Given the description of an element on the screen output the (x, y) to click on. 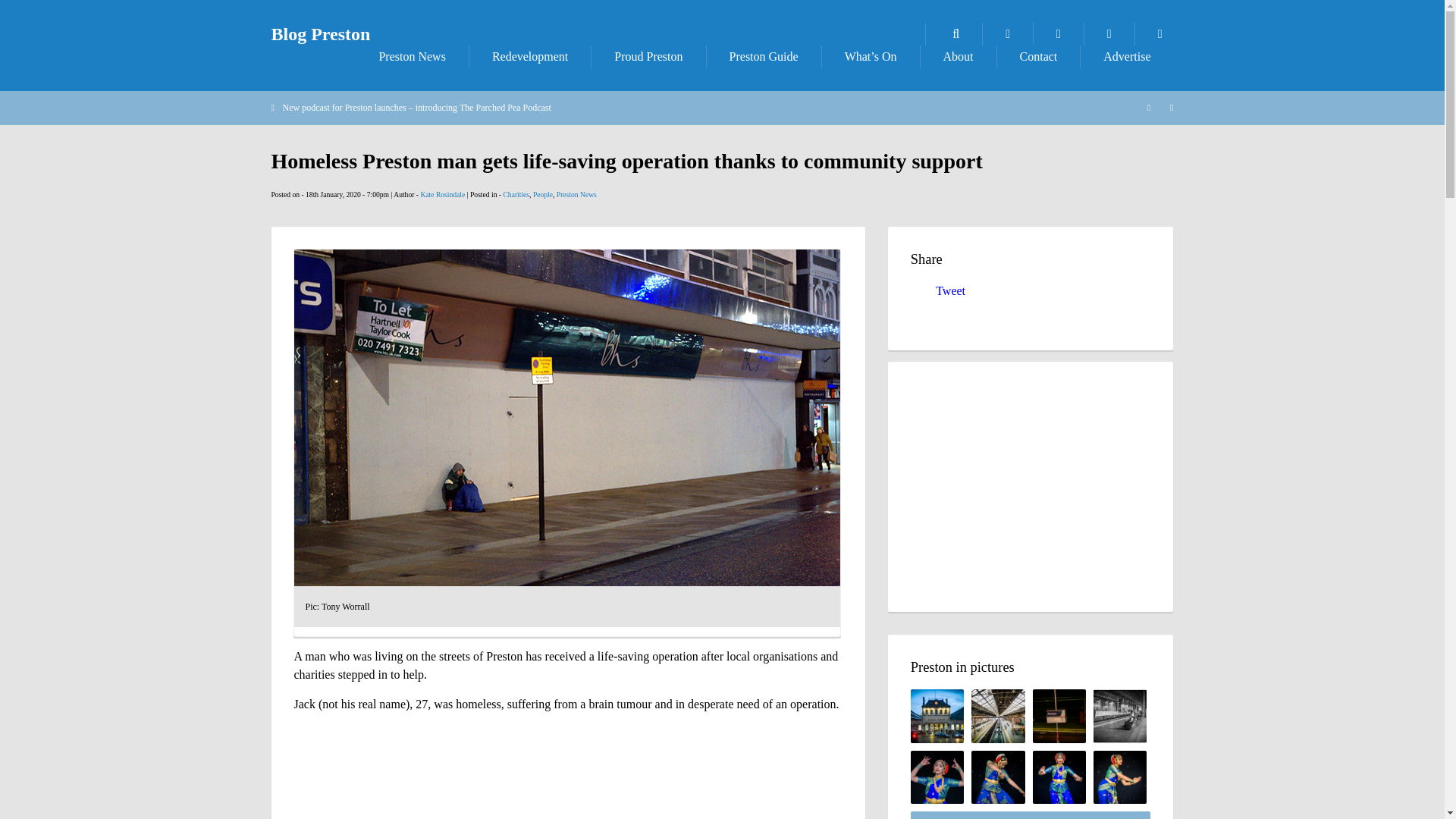
About Blog Preston (957, 56)
Redevelopment news in and around Preston (529, 56)
Kate Rosindale (442, 194)
Blog Preston (320, 33)
Blog Preston on Instagram (1160, 33)
Blog Preston (320, 33)
Redevelopment (529, 56)
People (542, 194)
Contact Blog Preston (1038, 56)
Preston News (576, 194)
Latest Preston news (411, 56)
Proud Preston (647, 56)
Advertise (1126, 56)
Charities (515, 194)
Contact (1038, 56)
